Given the description of an element on the screen output the (x, y) to click on. 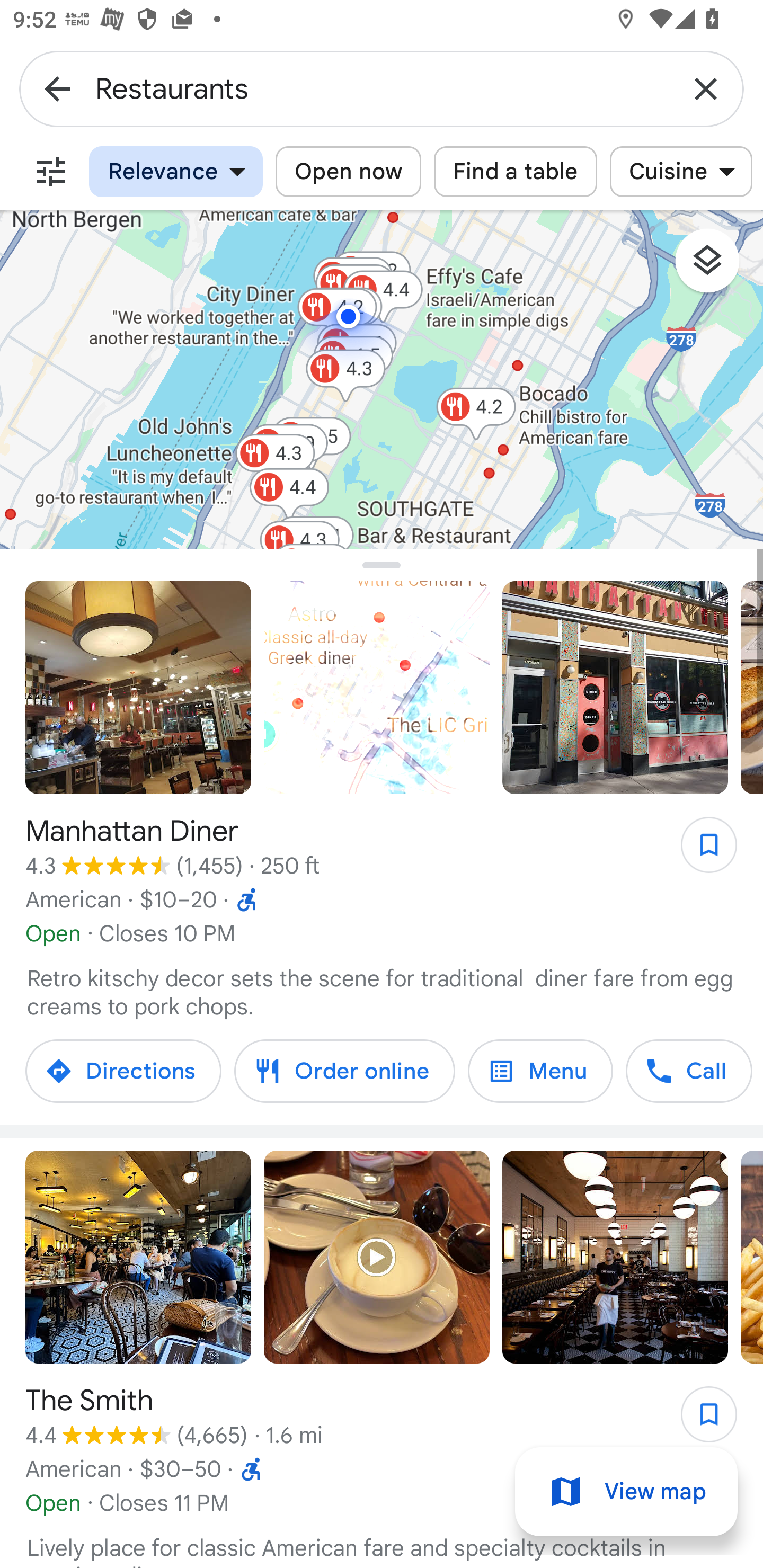
Back (57, 88)
Restaurants (381, 88)
Clear (705, 88)
More filters (50, 171)
Relevance Relevance Relevance (175, 171)
Open now Open now Open now (348, 171)
Find a table Find a table Find a table (515, 171)
Cuisine Cuisine Cuisine (680, 171)
Layers (716, 267)
Photo (138, 687)
Video (376, 687)
Photo (614, 687)
Save Manhattan Diner to lists (699, 851)
Order online Order online Order online (344, 1070)
Manhattan Diner Menu Menu Manhattan Diner Menu (539, 1070)
Photo (138, 1257)
Video (376, 1257)
Photo (614, 1257)
Save The Smith to lists (699, 1420)
View map Map view (626, 1491)
